Given the description of an element on the screen output the (x, y) to click on. 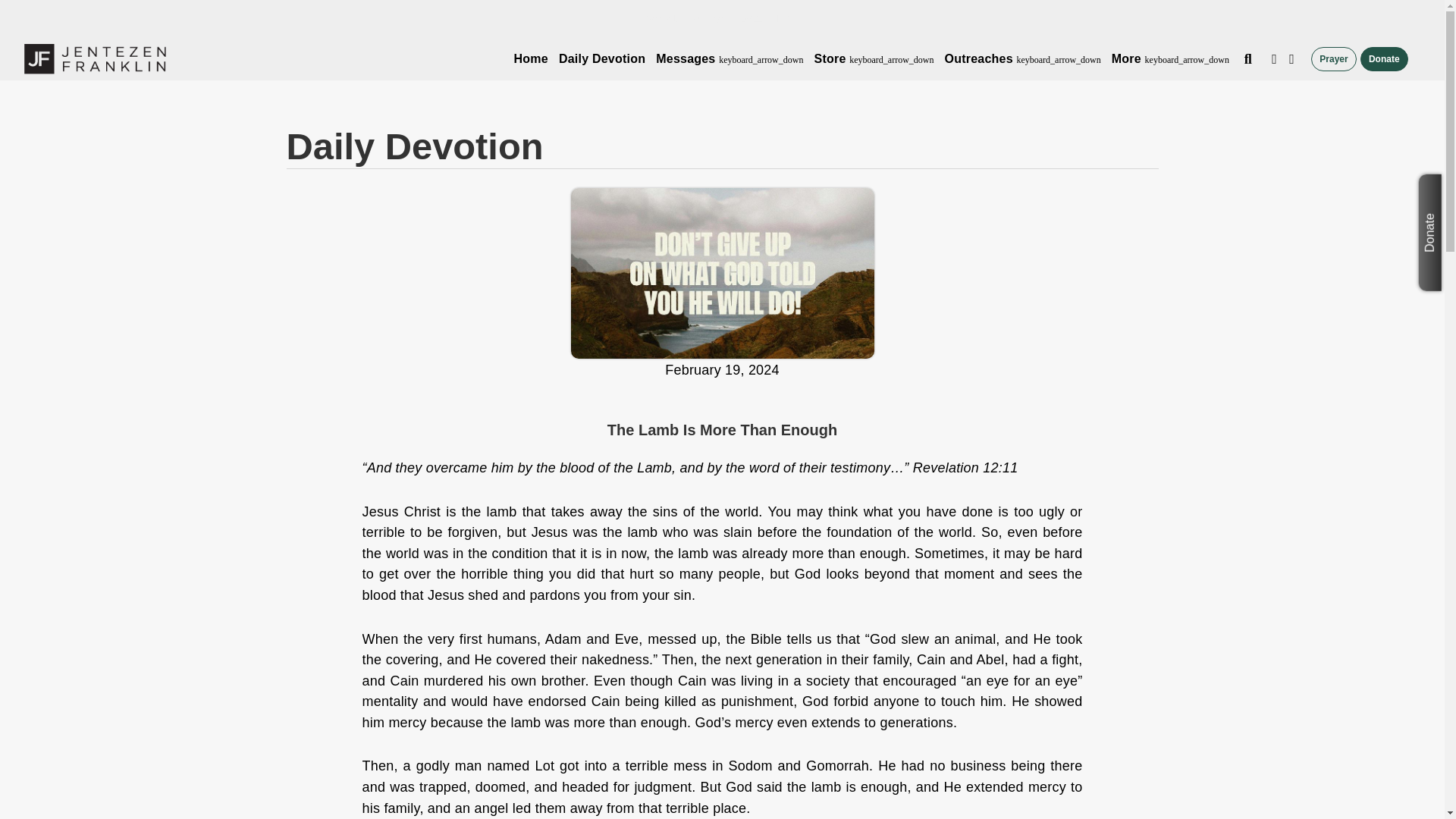
HERE (785, 18)
Jentezen Franklin (94, 59)
Daily Devotion (601, 59)
Register To Vote In 2024 (703, 18)
Home (531, 59)
